Given the description of an element on the screen output the (x, y) to click on. 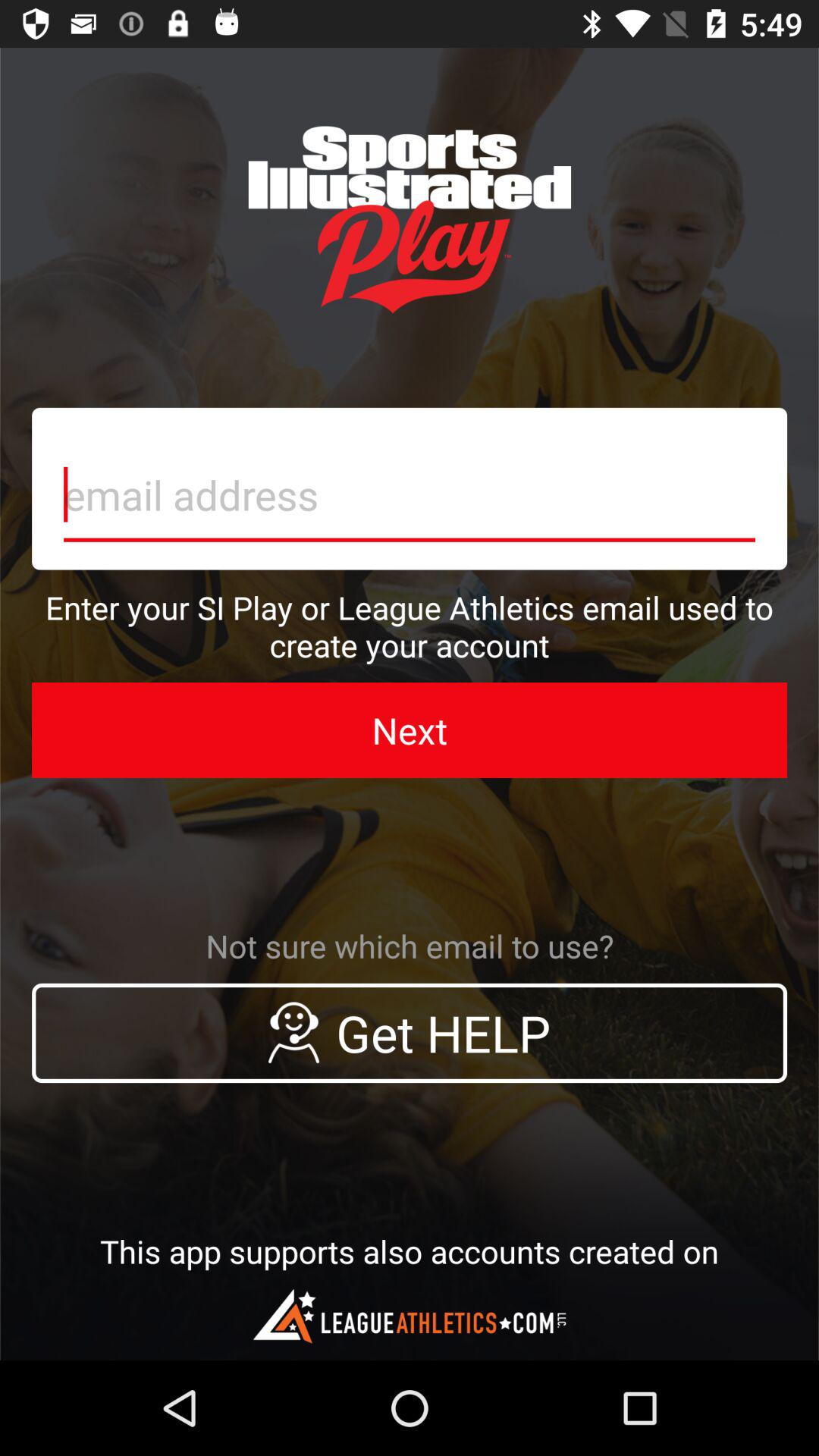
choose the icon above the not sure which icon (409, 730)
